Given the description of an element on the screen output the (x, y) to click on. 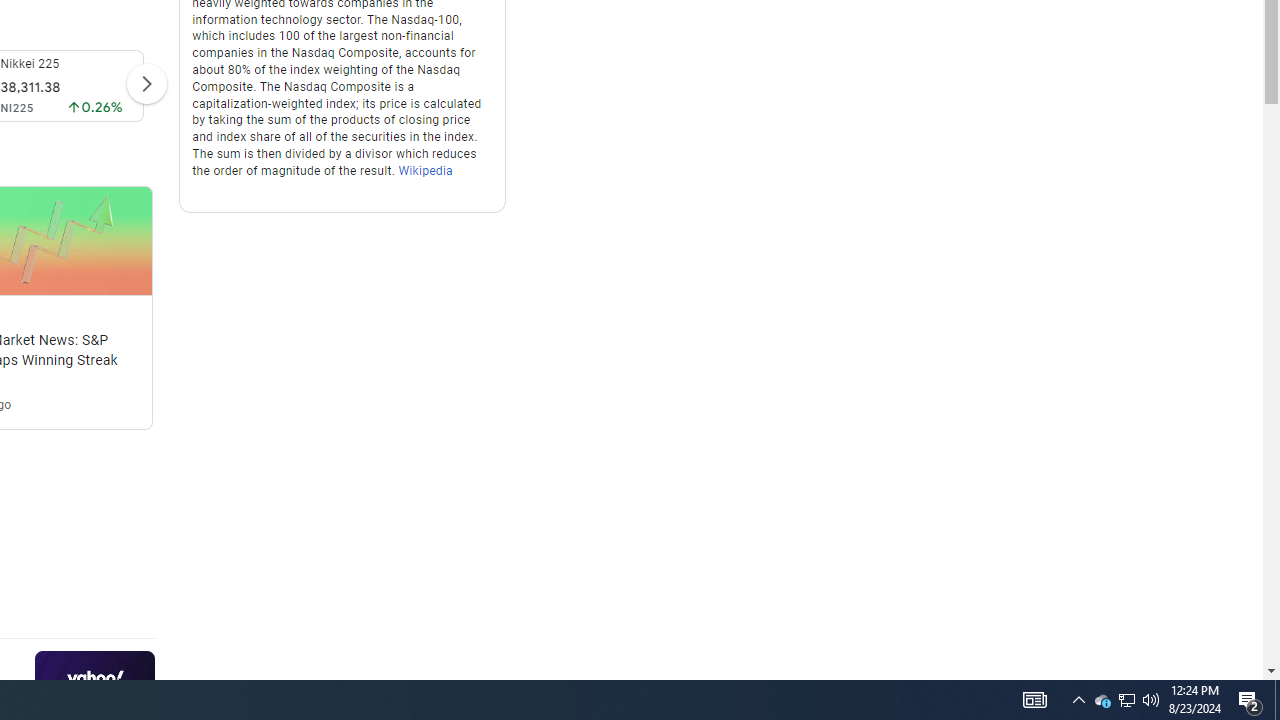
Wikipedia (425, 169)
